Given the description of an element on the screen output the (x, y) to click on. 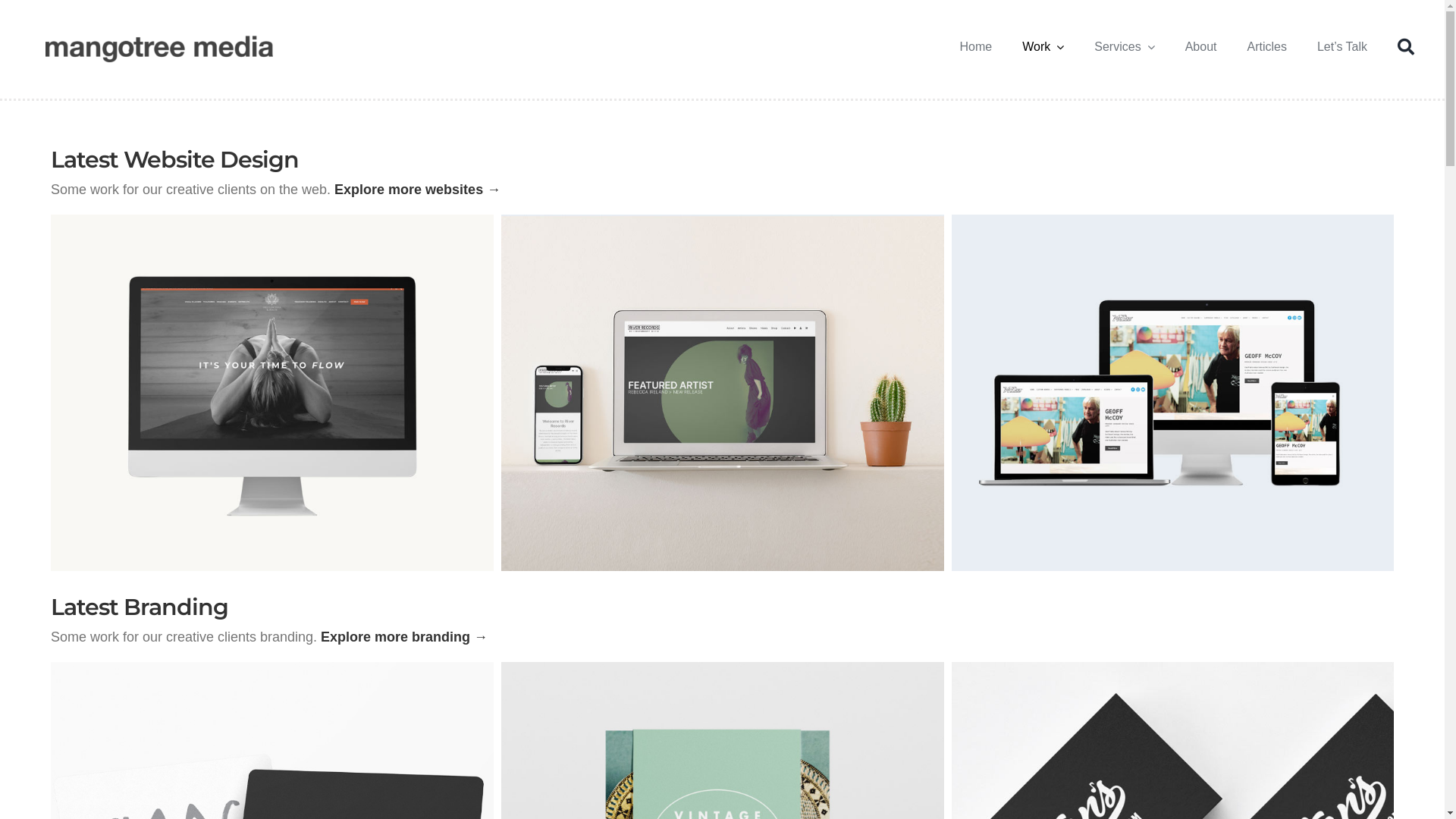
Work Element type: text (1042, 46)
Home Element type: text (976, 46)
About Element type: text (1201, 46)
Articles Element type: text (1266, 46)
Services Element type: text (1124, 46)
Search Element type: hover (1405, 46)
